Given the description of an element on the screen output the (x, y) to click on. 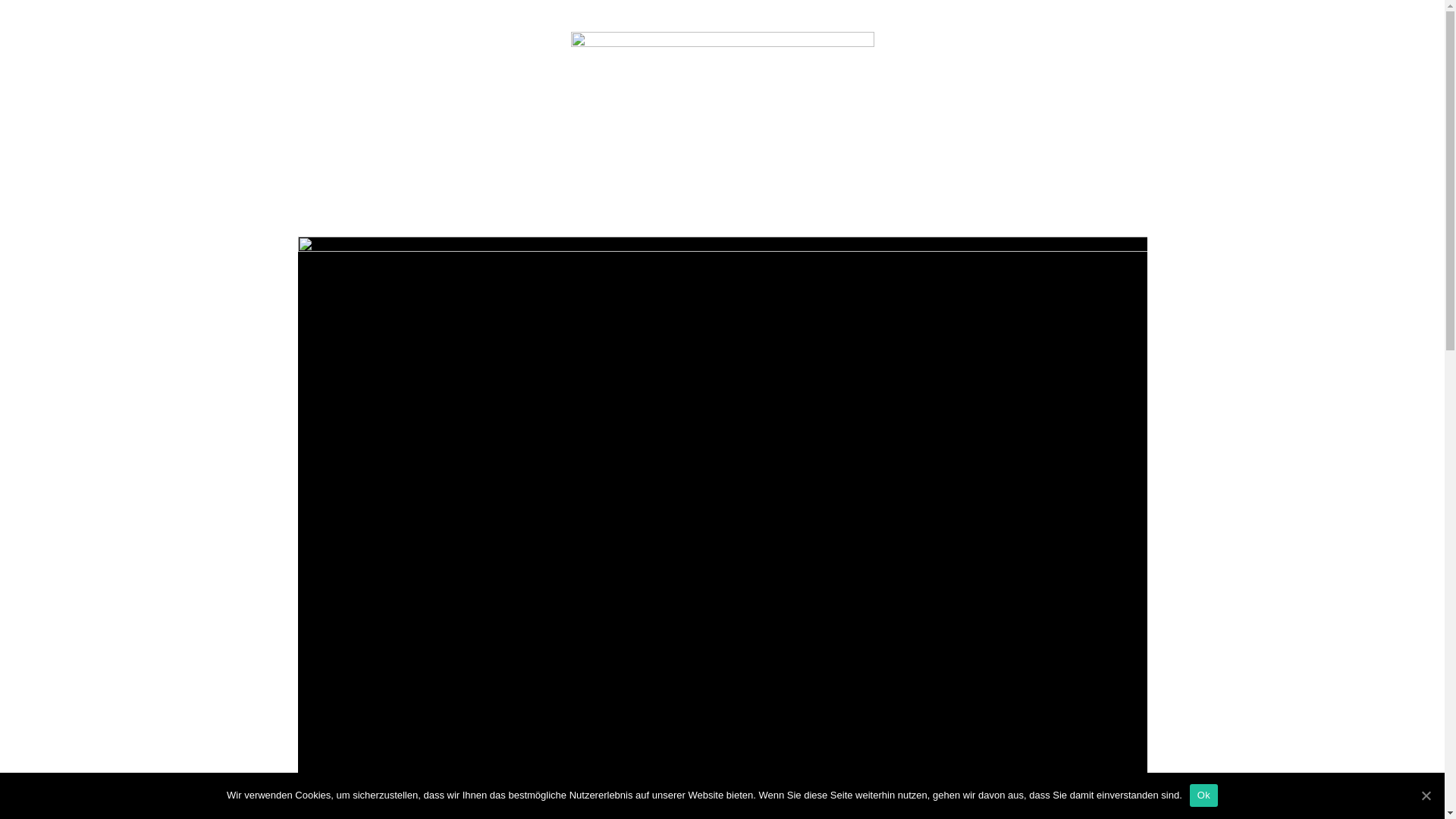
Ok Element type: text (1203, 795)
